Given the description of an element on the screen output the (x, y) to click on. 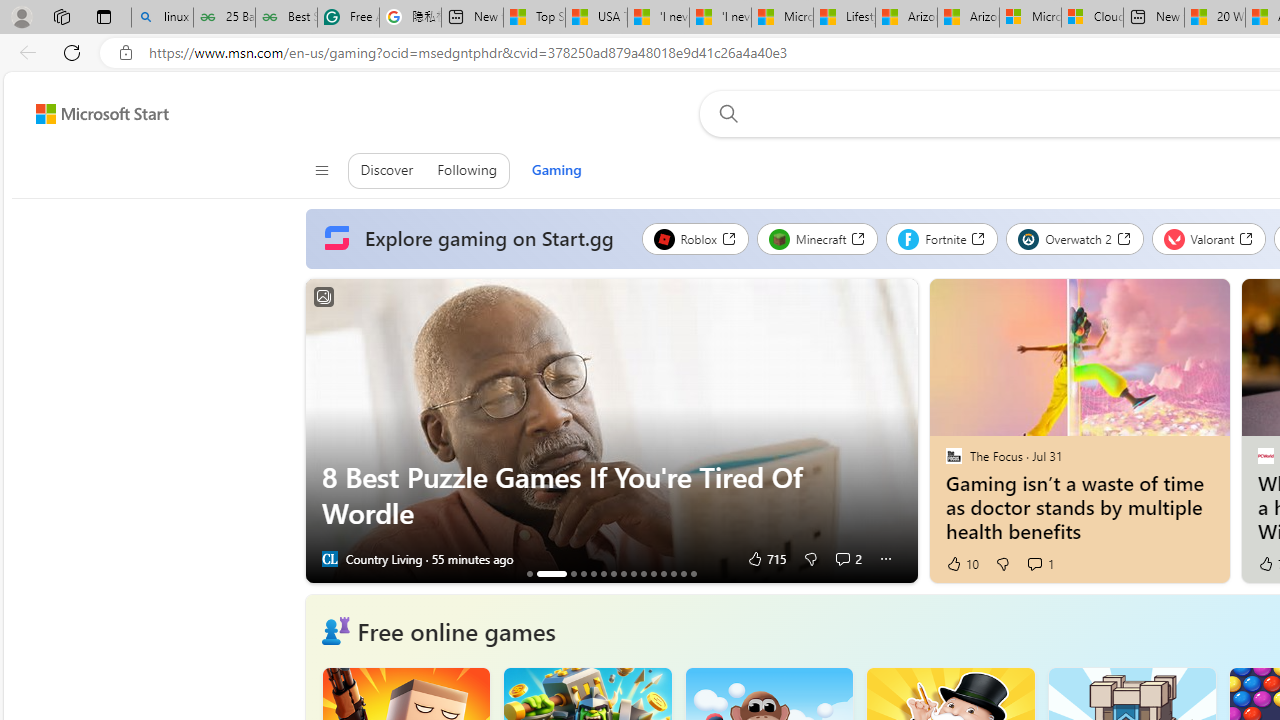
View comments 1 Comment (1034, 563)
AutomationID: tab_nativead-infopane-14 (683, 573)
Best Mini Gaming PCs In 2024 (623, 573)
Roblox (694, 238)
Lifestyle - MSN (844, 17)
Gaming (555, 170)
PC World (1264, 455)
25 Basic Linux Commands For Beginners - GeeksforGeeks (224, 17)
Starfield: How To Use Your Spaceship (613, 573)
Country Living (329, 558)
Gaming (555, 169)
